Given the description of an element on the screen output the (x, y) to click on. 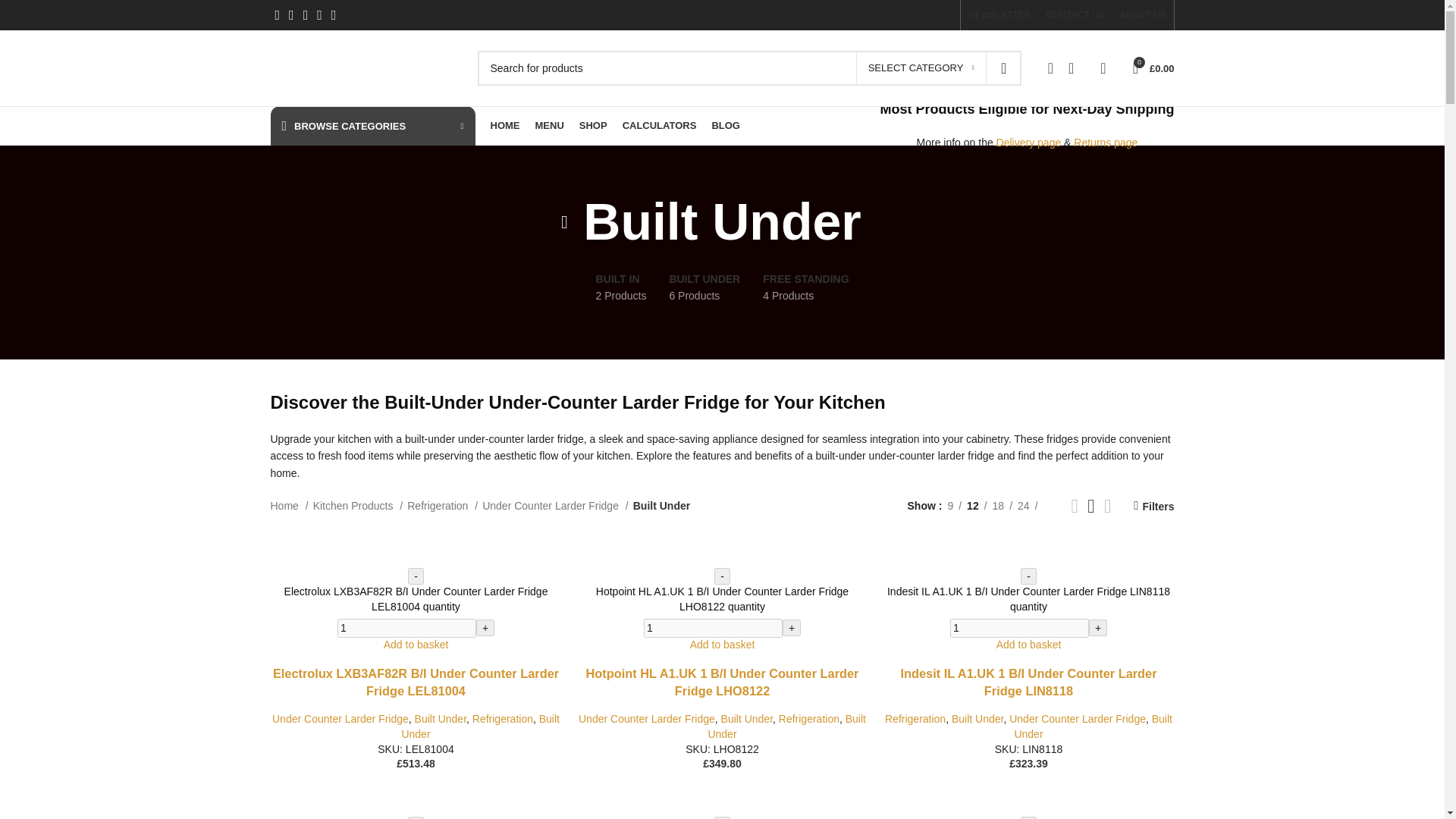
CONTACT US (1074, 15)
ABOUT US (1142, 15)
- (1028, 576)
My Wishlist (1077, 68)
Search for products (749, 67)
SELECT CATEGORY (921, 68)
- (1028, 817)
1 (406, 628)
- (415, 817)
NEWSLETTER (999, 15)
